Given the description of an element on the screen output the (x, y) to click on. 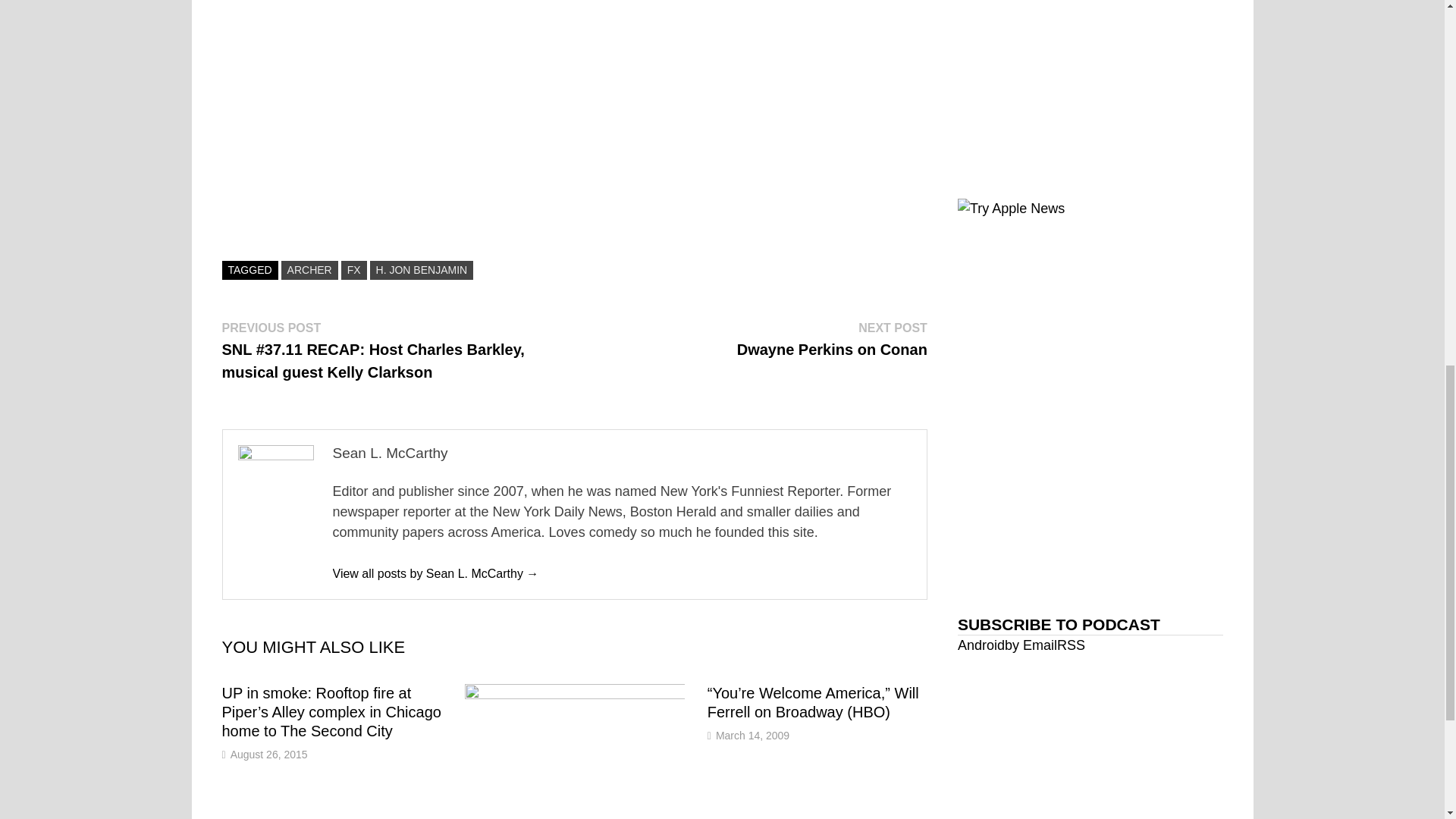
Sean L. McCarthy (434, 573)
ARCHER (309, 270)
H. JON BENJAMIN (421, 270)
Subscribe by Email (831, 338)
Subscribe via RSS (1030, 645)
March 14, 2009 (1070, 645)
Subscribe on Android (752, 735)
August 26, 2015 (981, 645)
FX (268, 754)
